Given the description of an element on the screen output the (x, y) to click on. 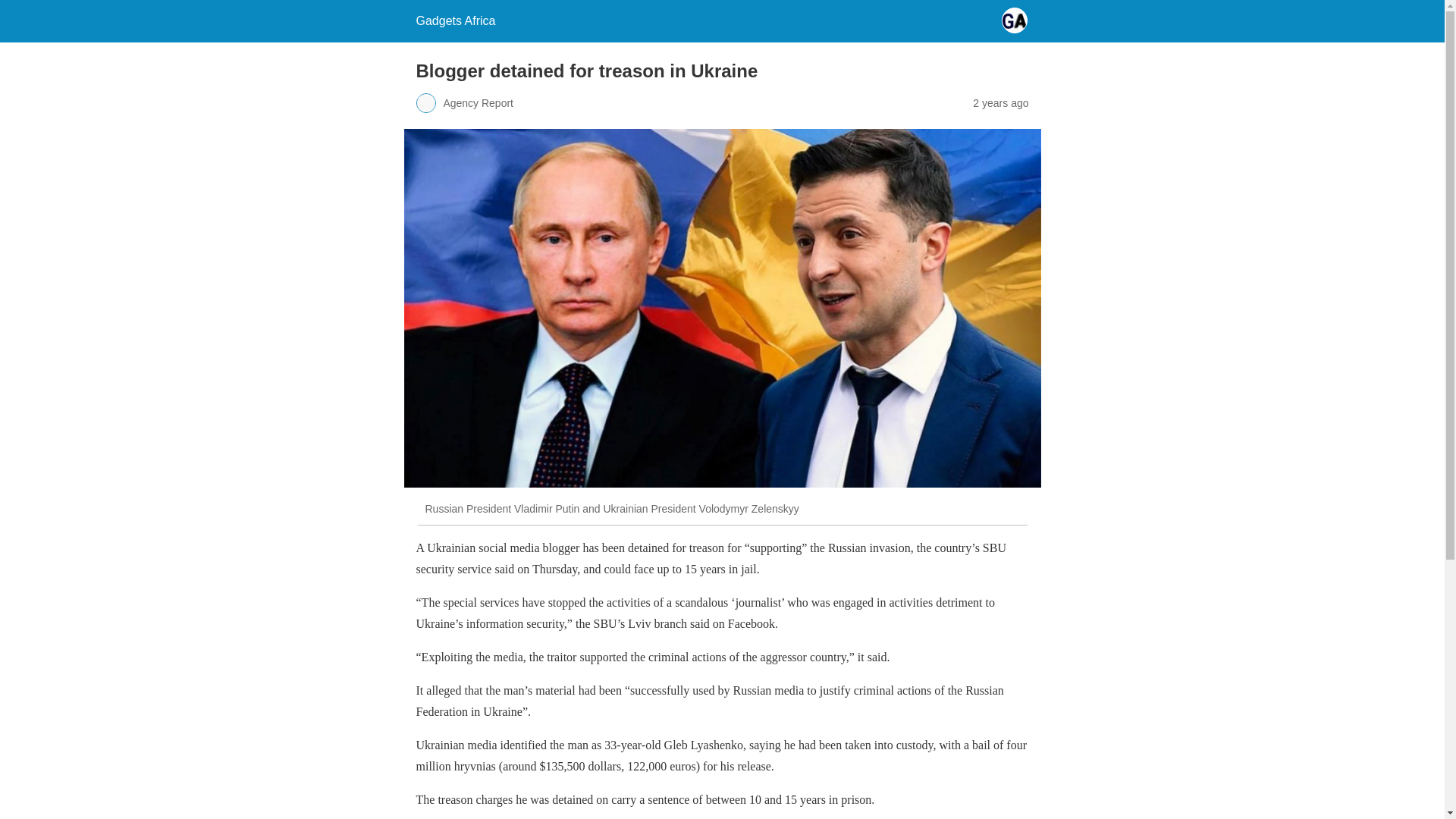
Gadgets Africa (454, 20)
